Given the description of an element on the screen output the (x, y) to click on. 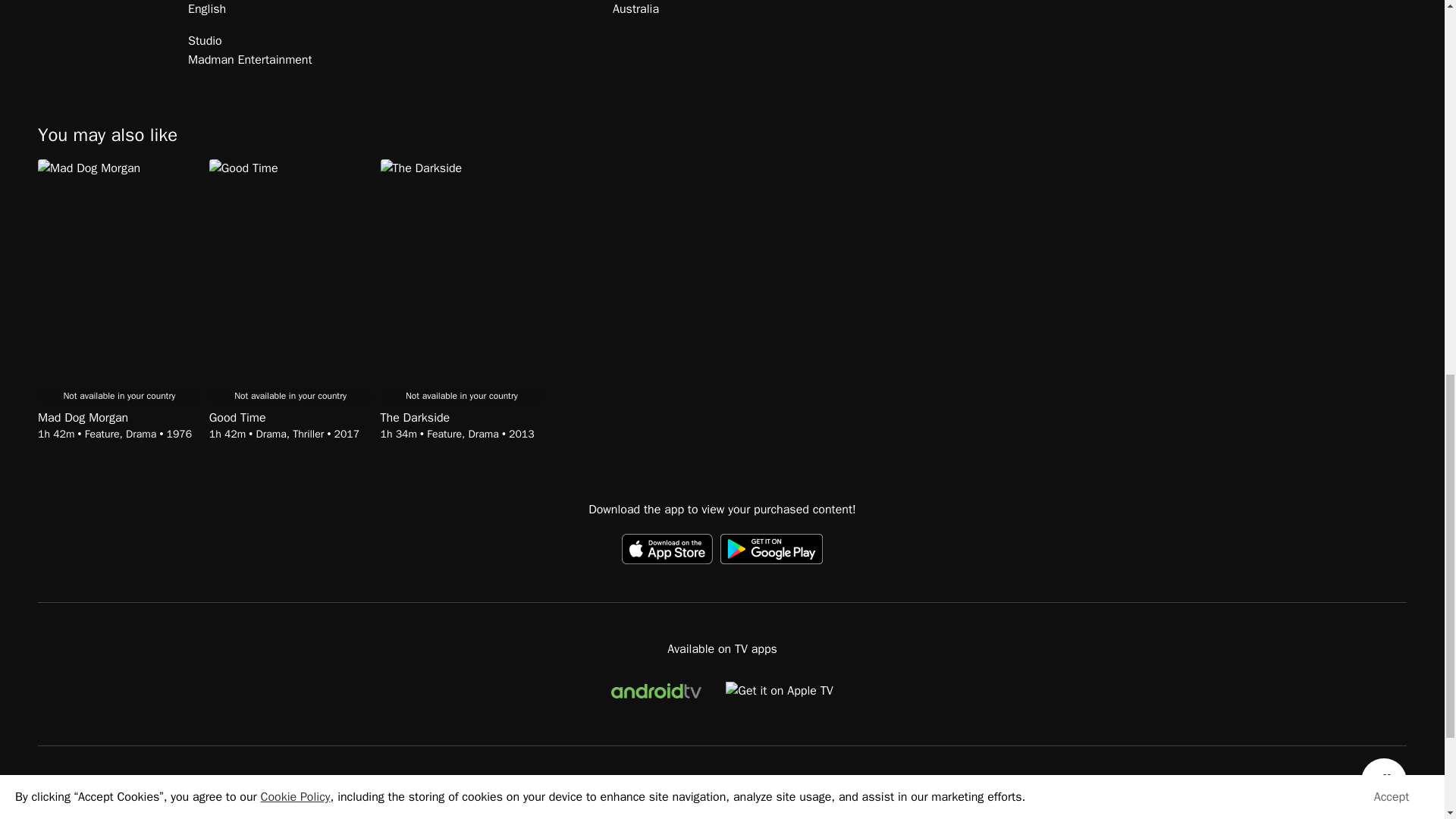
Mad Dog Morgan (118, 418)
The Darkside (461, 418)
Good Time (290, 418)
